Given the description of an element on the screen output the (x, y) to click on. 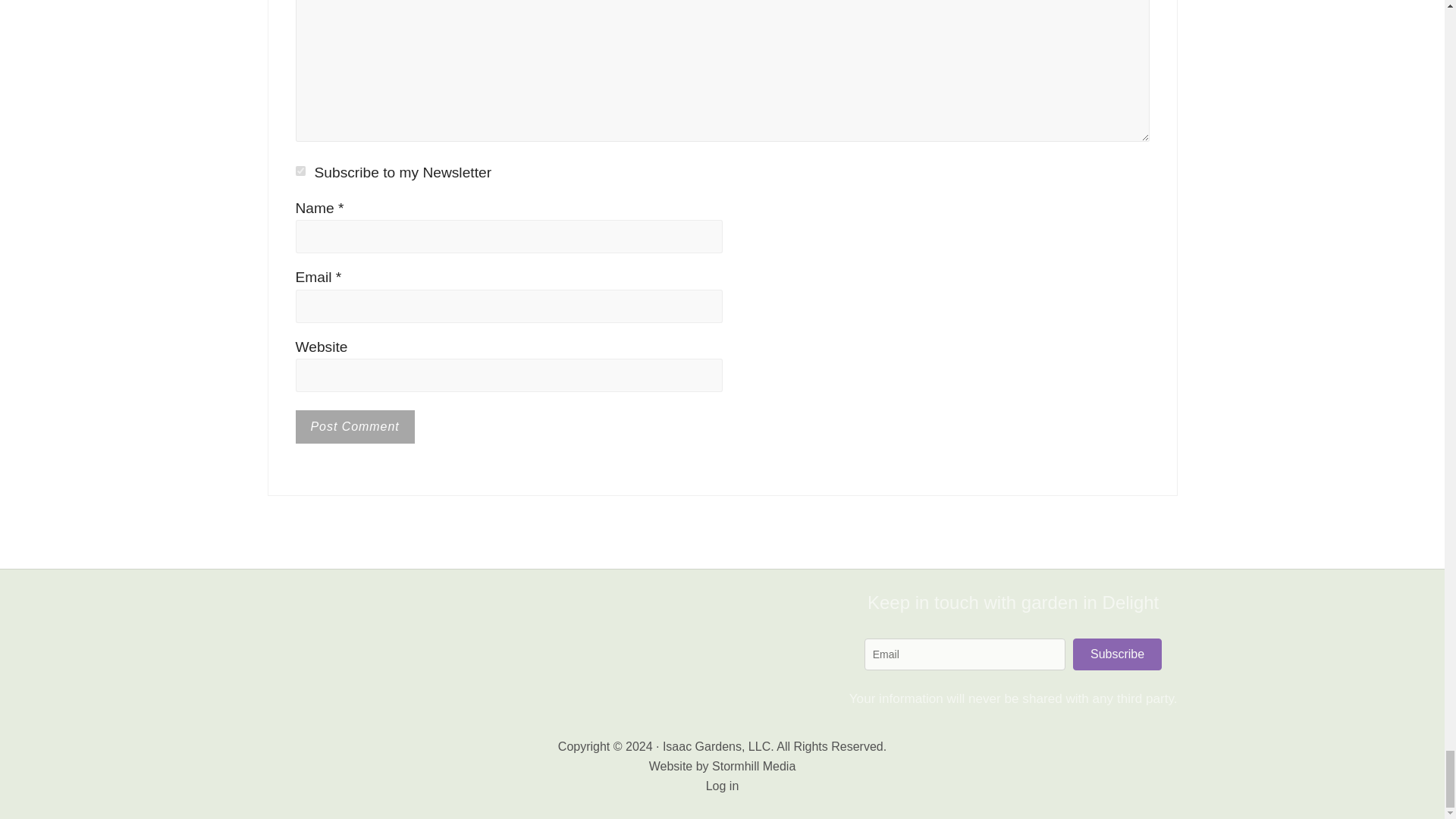
Post Comment (354, 426)
1 (300, 171)
